Given the description of an element on the screen output the (x, y) to click on. 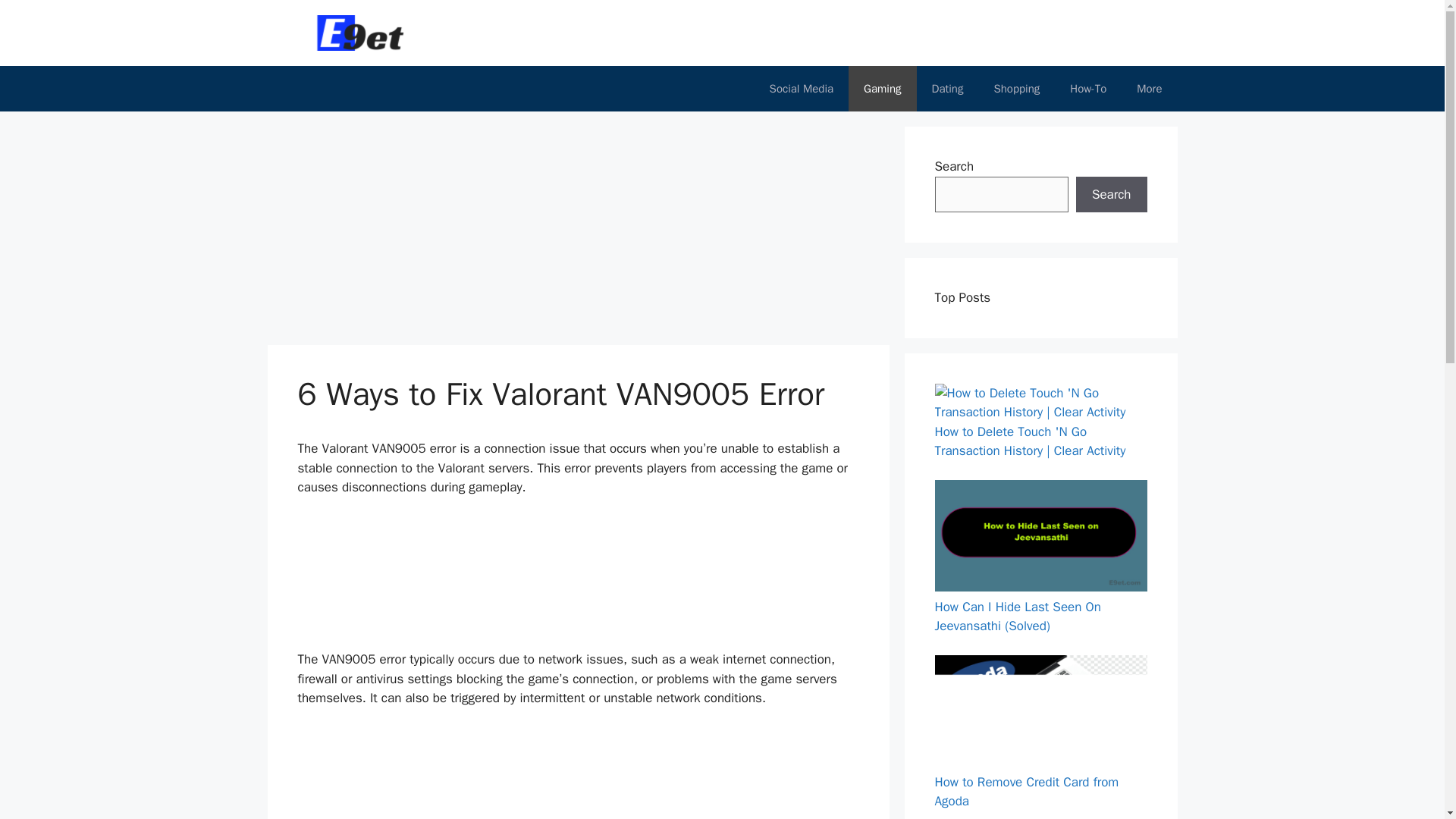
More (1148, 88)
Gaming (881, 88)
Social Media (801, 88)
How-To (1087, 88)
How to Remove Credit Card from Agoda (1026, 791)
Advertisement (578, 579)
Advertisement (550, 232)
Search (1111, 194)
Dating (947, 88)
Shopping (1016, 88)
Advertisement (578, 773)
